Given the description of an element on the screen output the (x, y) to click on. 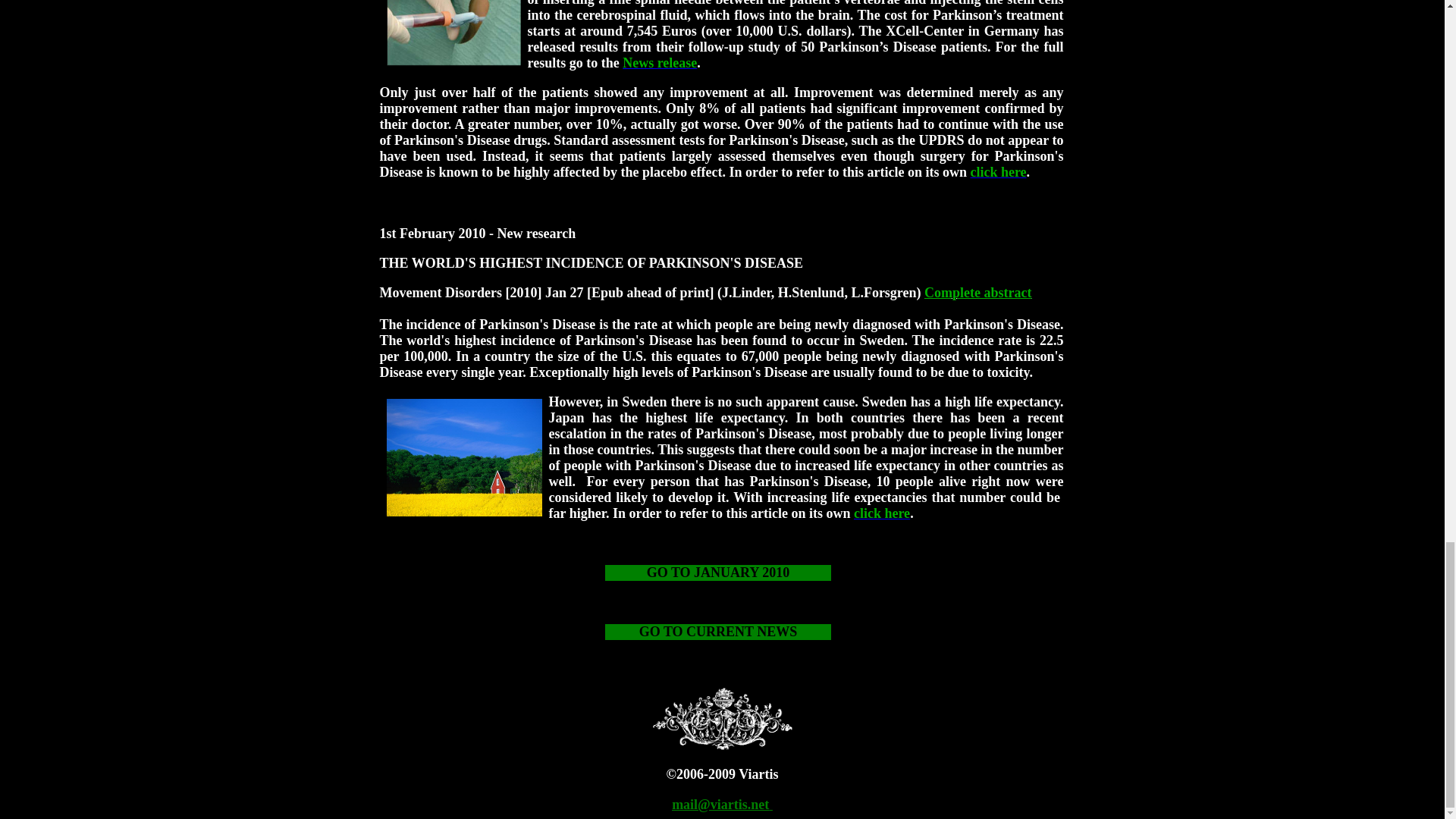
News release (660, 62)
click here (881, 513)
Complete abstract (977, 292)
GO TO JANUARY 2010 (718, 572)
click here (997, 171)
GO TO CURRENT NEWS (718, 631)
